Given the description of an element on the screen output the (x, y) to click on. 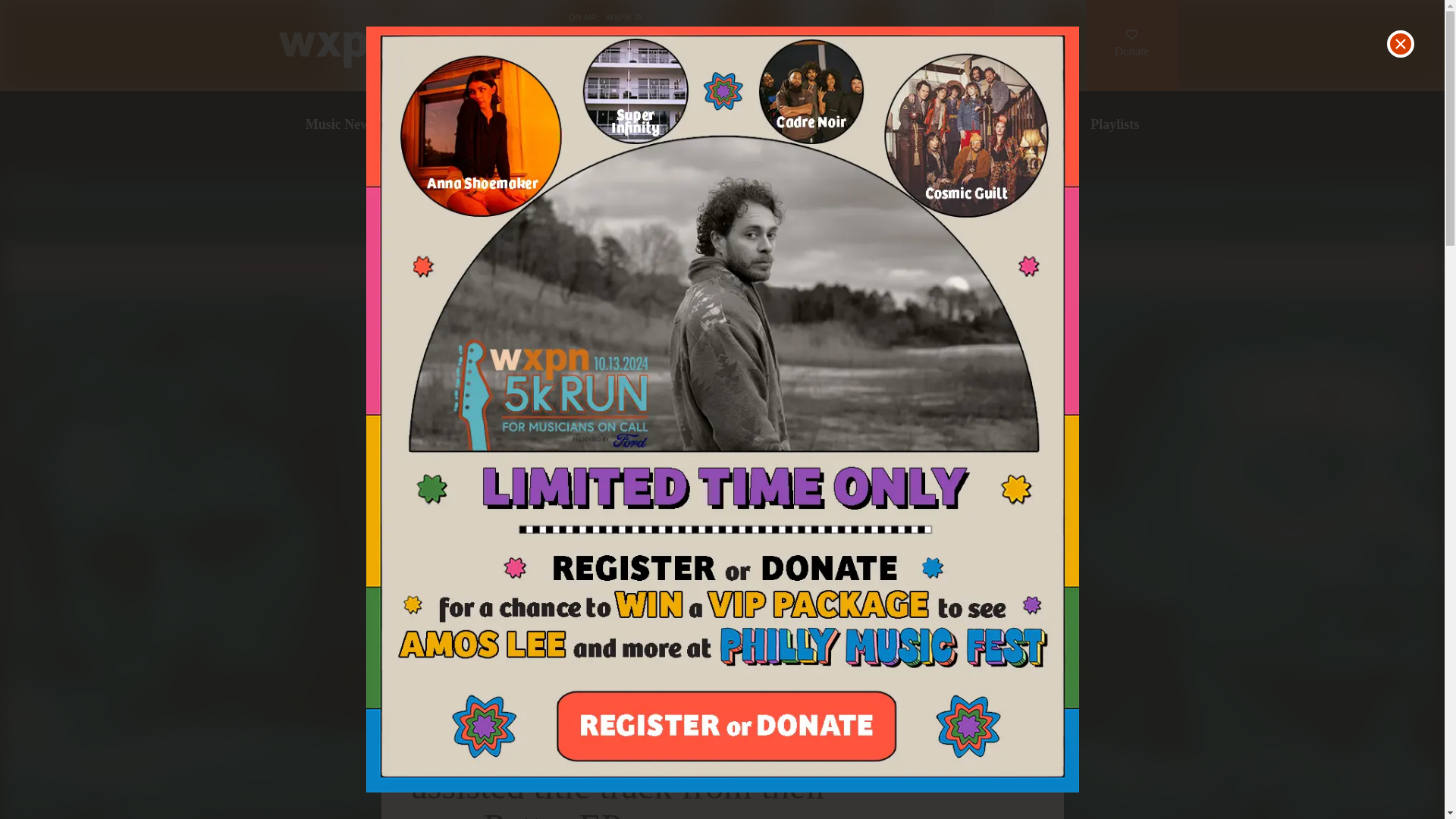
Play (485, 45)
Mute (534, 46)
